Given the description of an element on the screen output the (x, y) to click on. 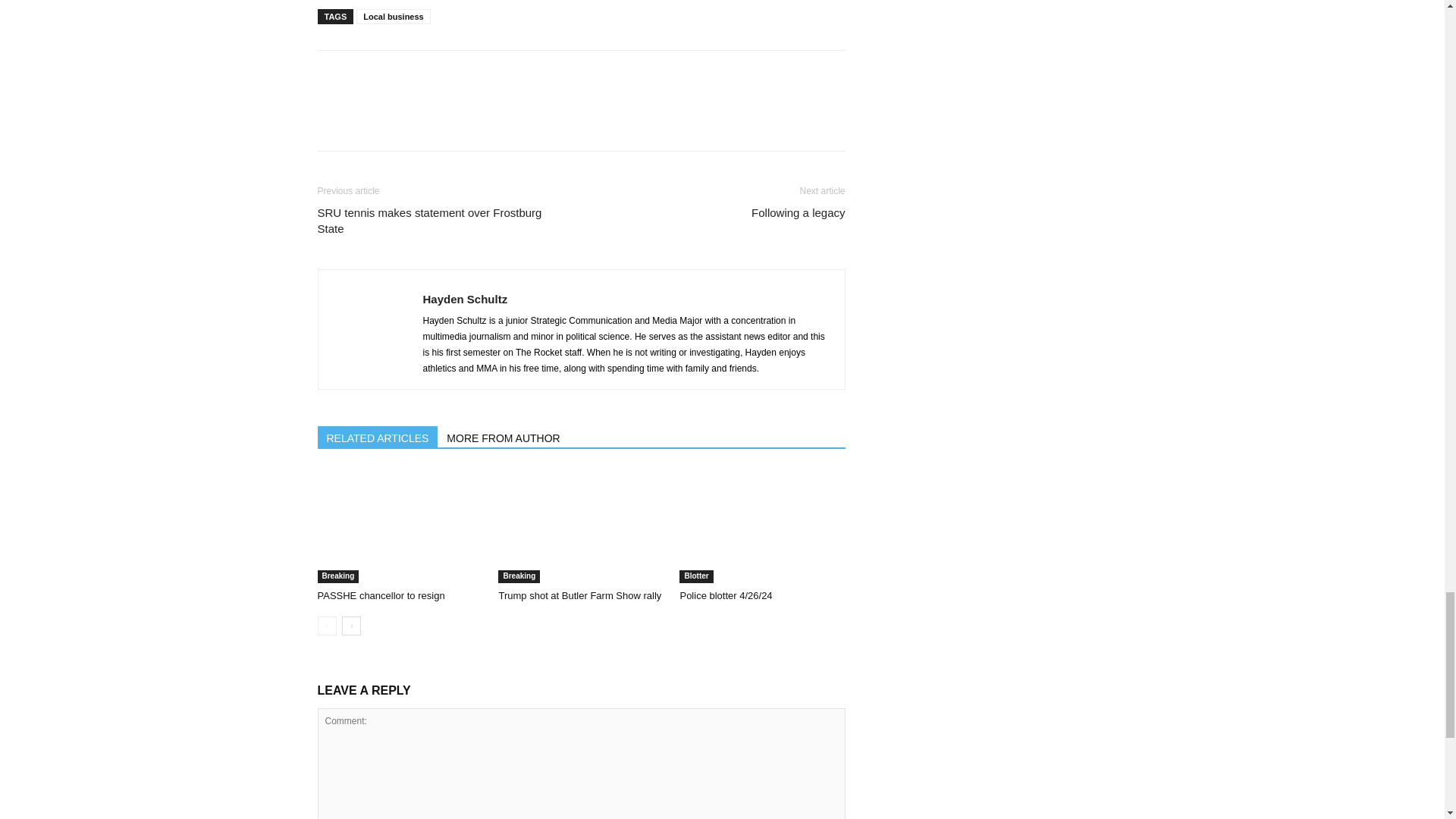
PASSHE chancellor to resign (399, 526)
PASSHE chancellor to resign (380, 595)
Trump shot at Butler Farm Show rally (580, 526)
